Given the description of an element on the screen output the (x, y) to click on. 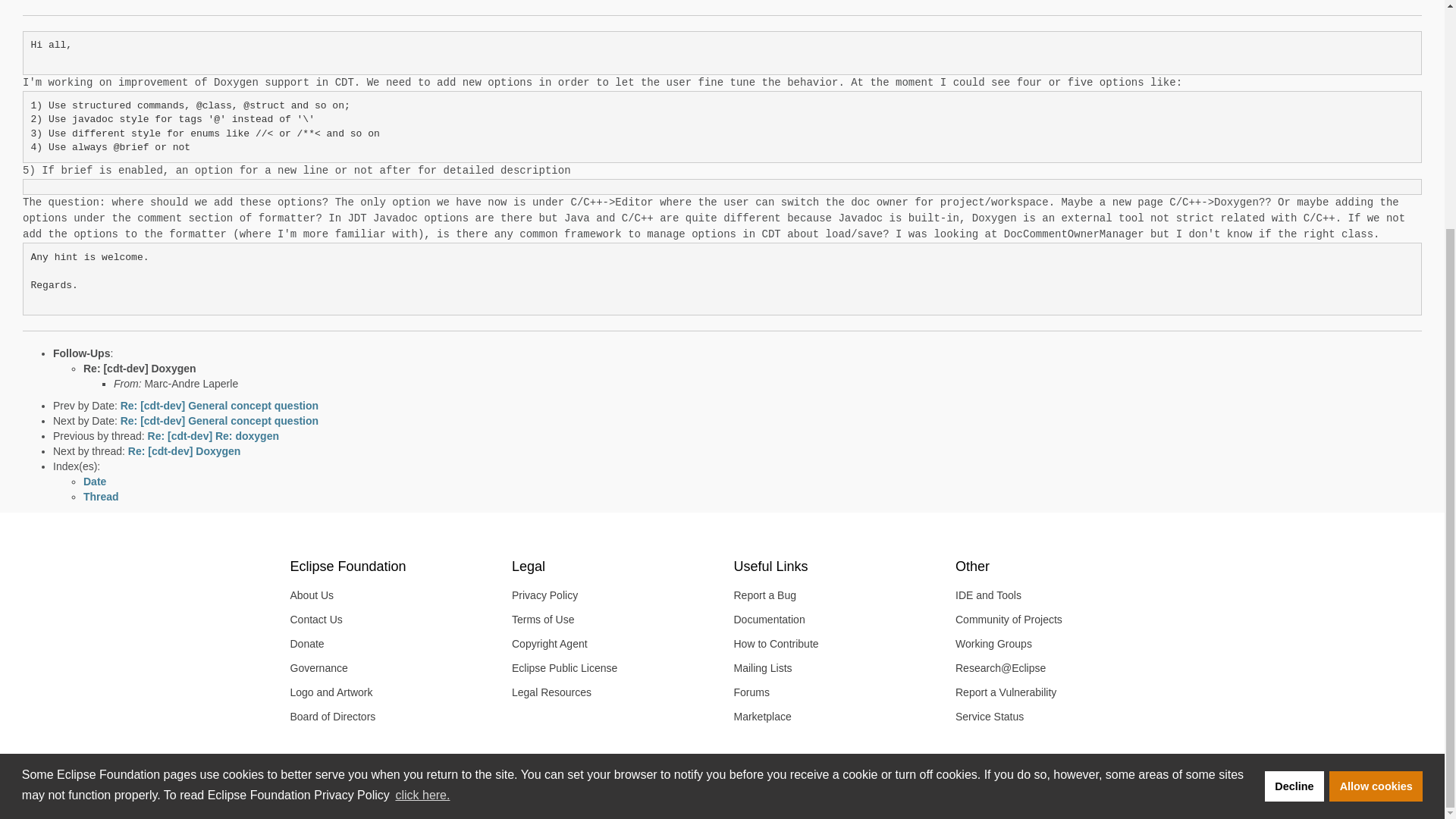
click here. (422, 486)
Allow cookies (1375, 477)
Decline (1294, 477)
